Given the description of an element on the screen output the (x, y) to click on. 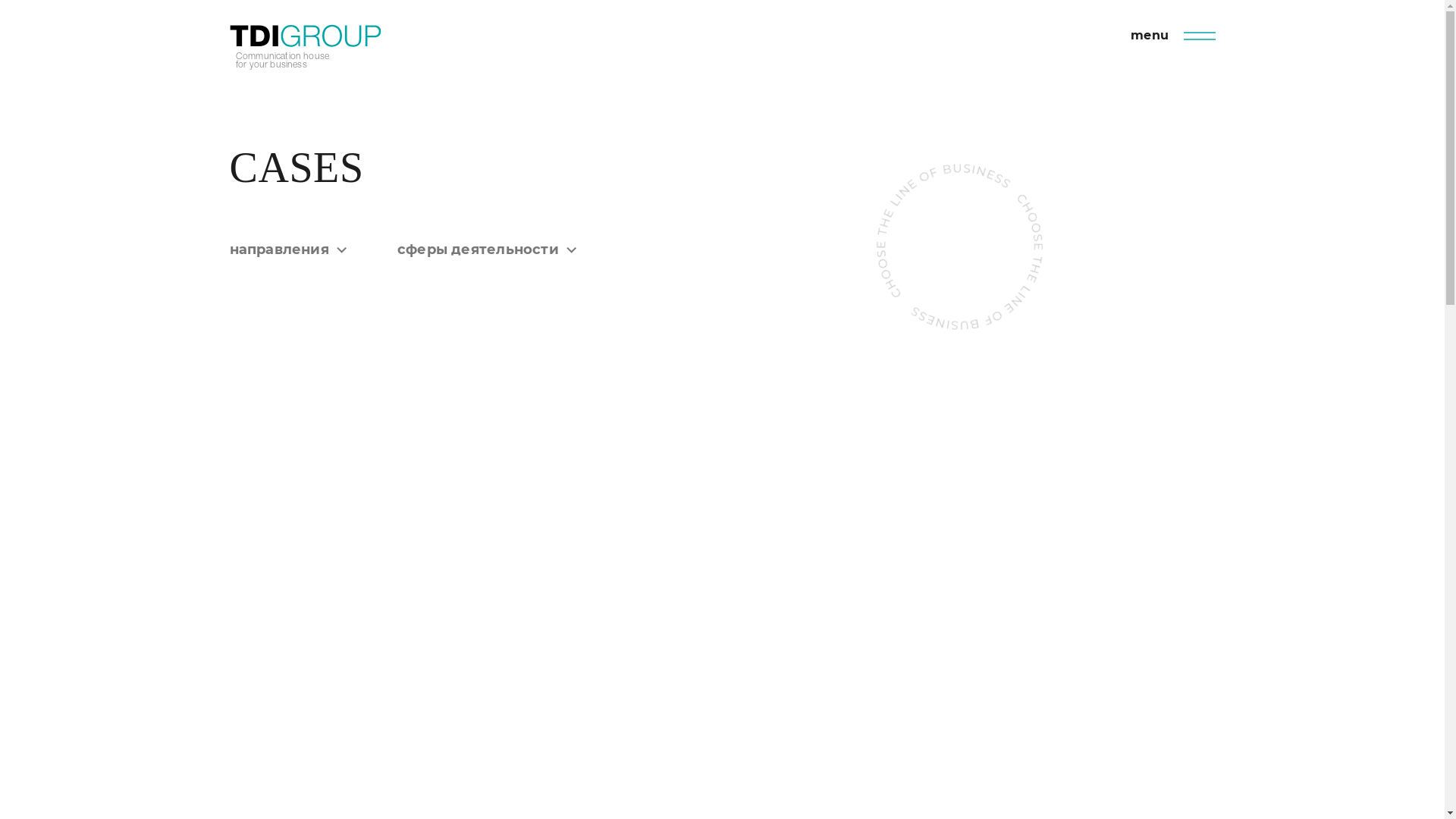
Communication house for your business Element type: text (304, 46)
